Given the description of an element on the screen output the (x, y) to click on. 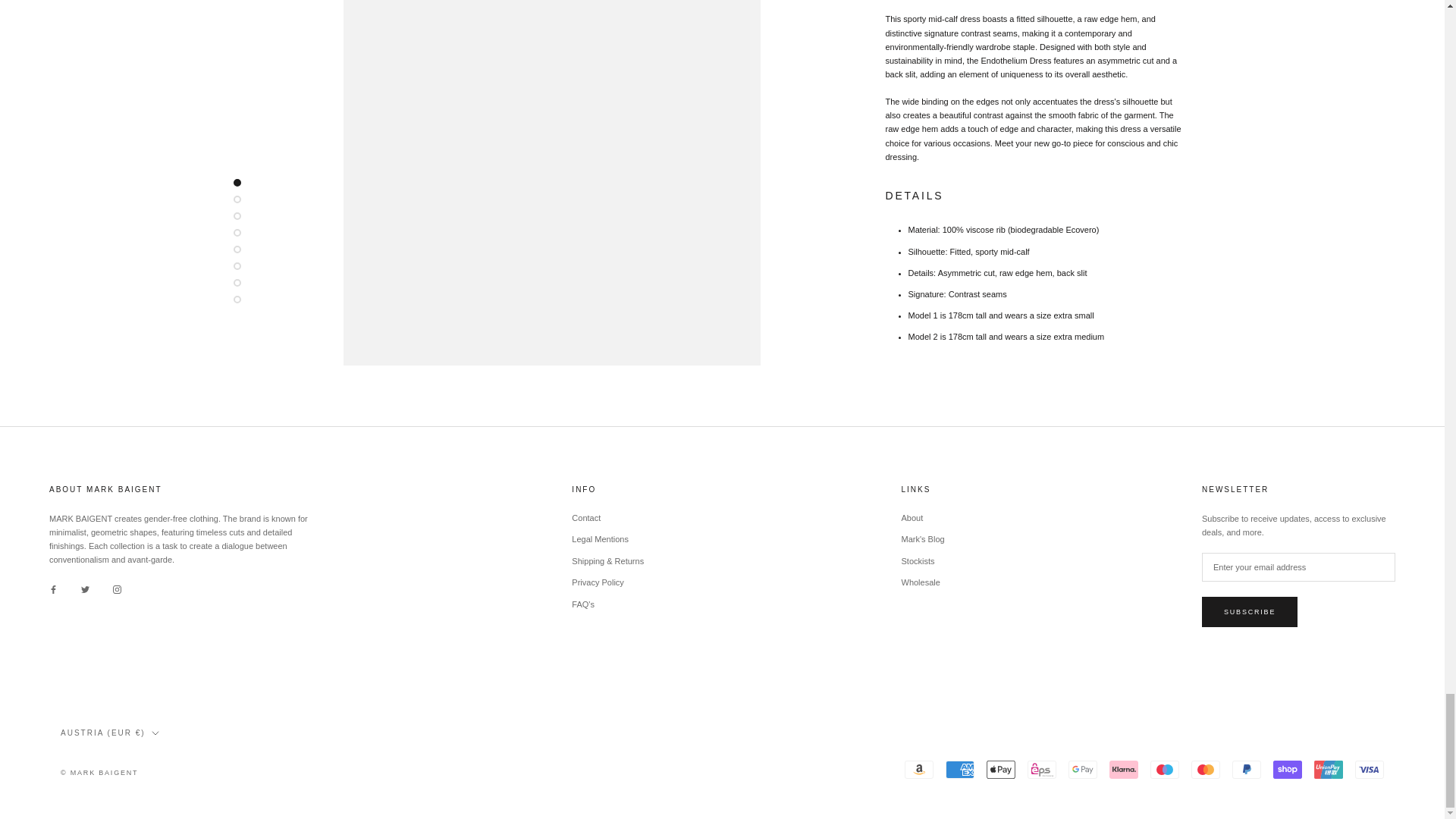
Apple Pay (1000, 769)
Visa (1369, 769)
Shop Pay (1286, 769)
Amazon (918, 769)
Klarna (1123, 769)
Union Pay (1328, 769)
Mastercard (1205, 769)
Google Pay (1082, 769)
Maestro (1164, 769)
PayPal (1245, 769)
American Express (959, 769)
EPS (1042, 769)
